Given the description of an element on the screen output the (x, y) to click on. 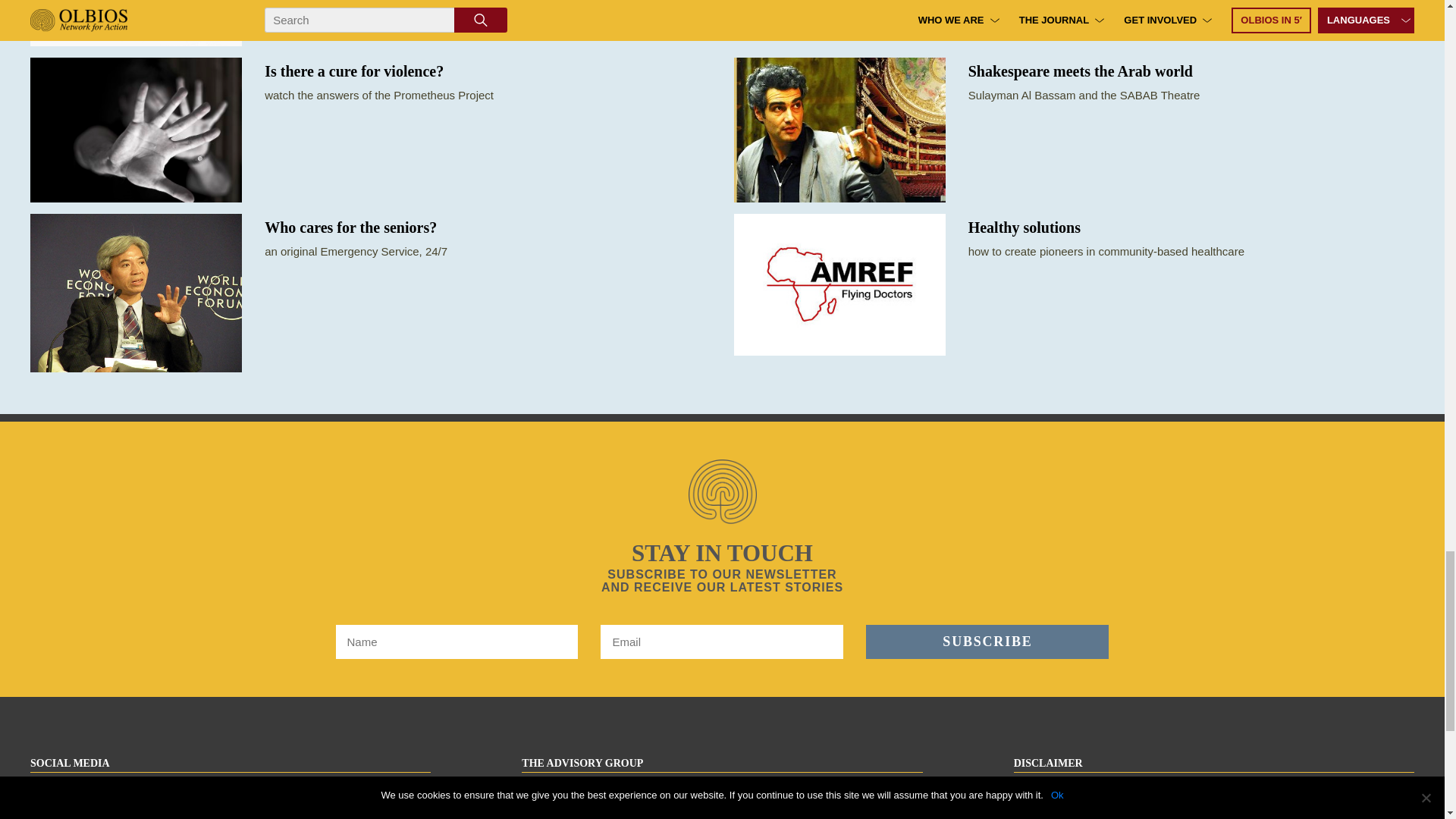
Subscribe (987, 641)
